Given the description of an element on the screen output the (x, y) to click on. 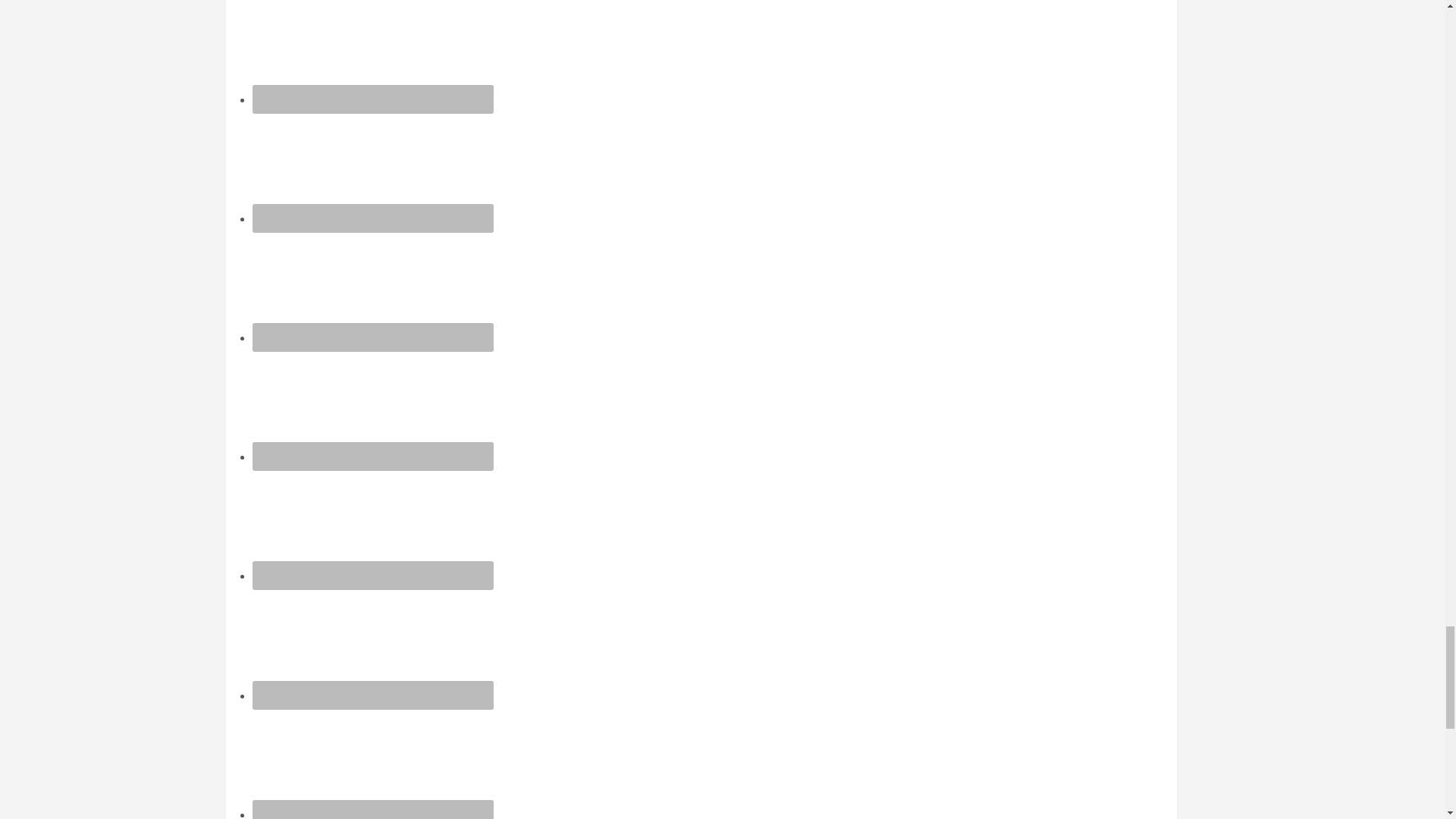
Tumblr (372, 643)
Facebook (372, 52)
LinkedIn (372, 285)
Instagram (372, 165)
Twitter (372, 762)
Pinterest (372, 522)
Medium (372, 404)
